Given the description of an element on the screen output the (x, y) to click on. 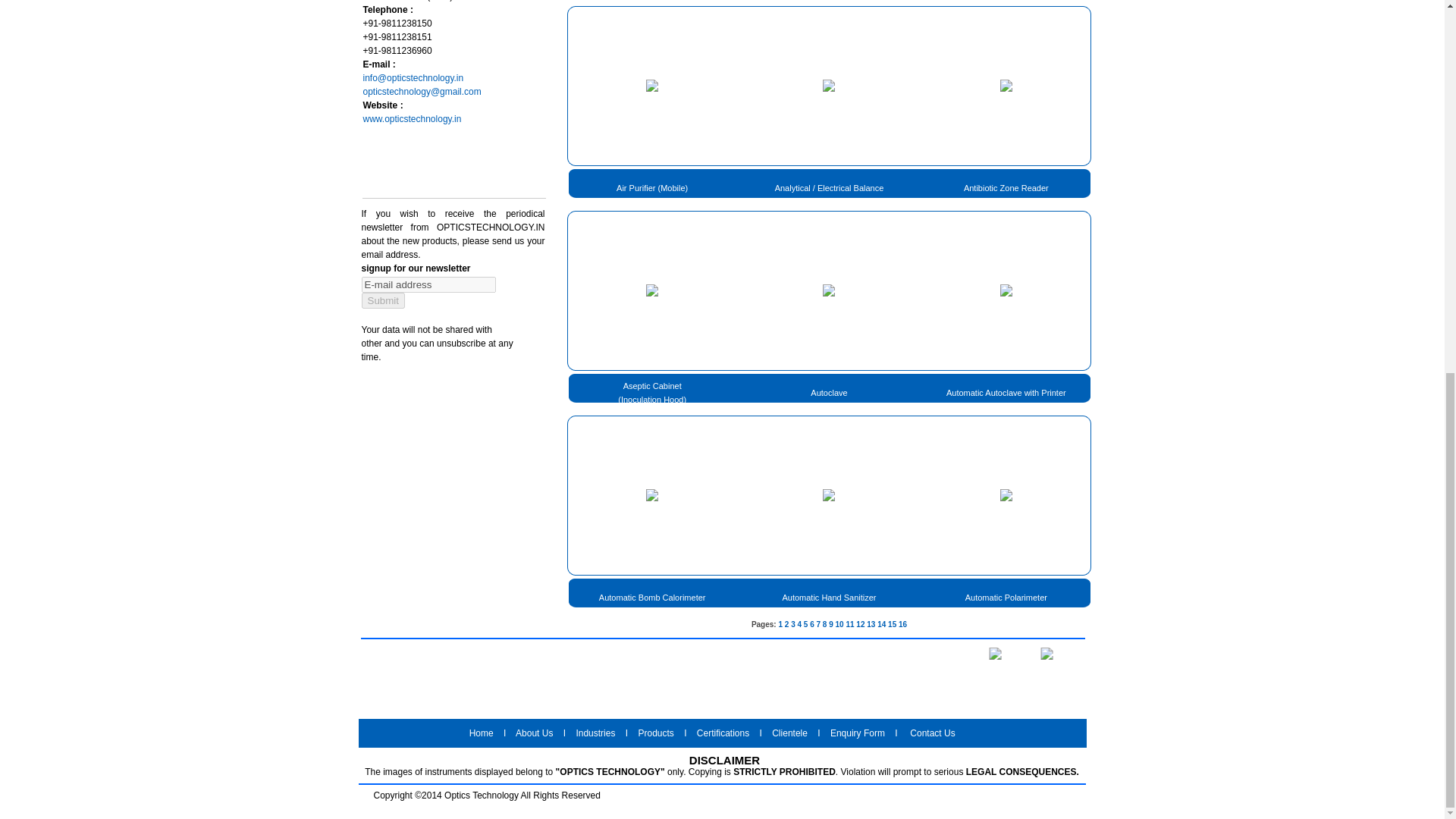
E-mail address (428, 284)
Submit (382, 300)
